Given the description of an element on the screen output the (x, y) to click on. 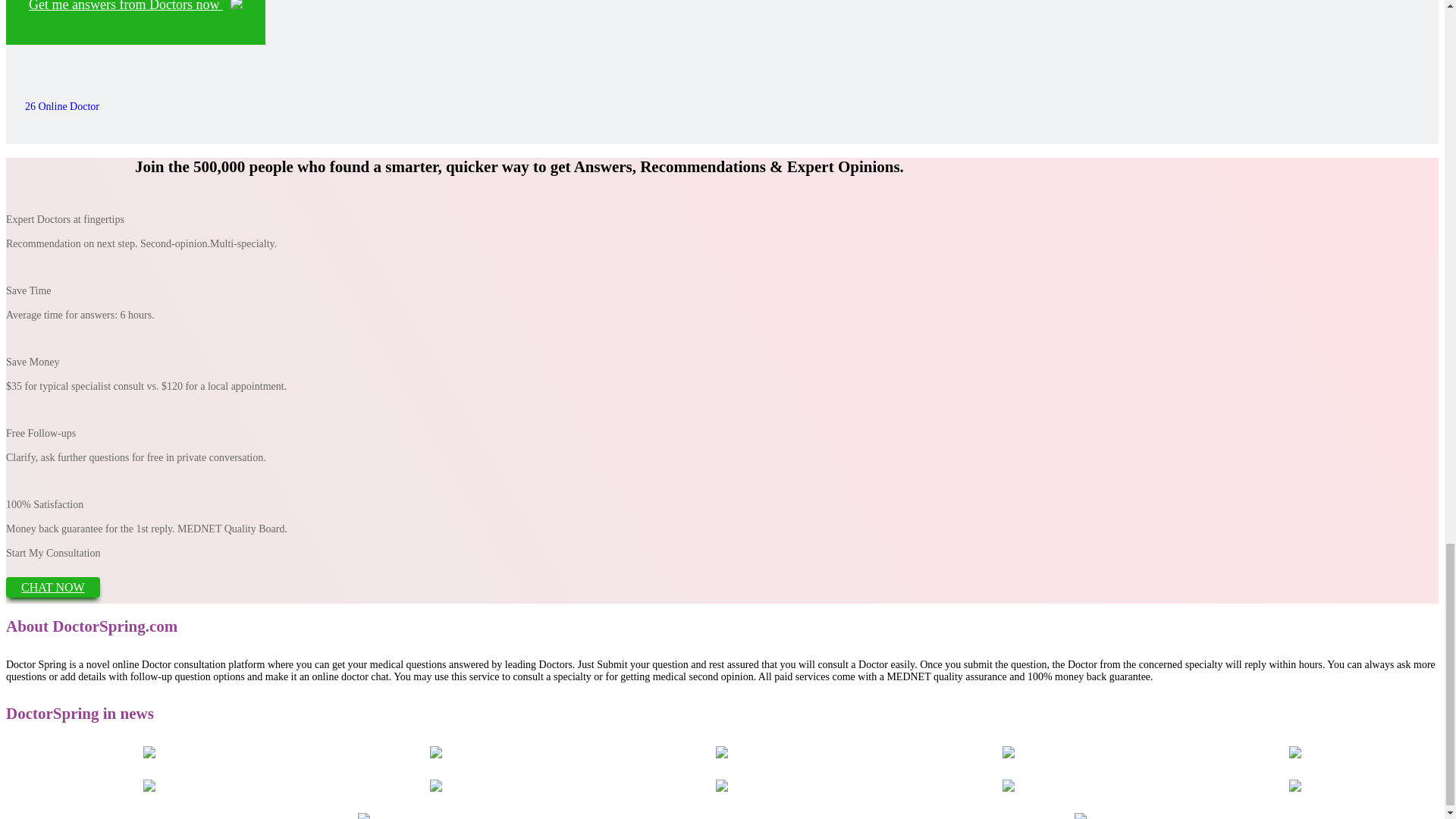
26 Online Doctor (58, 106)
CHAT NOW (52, 587)
Get me answers from Doctors now (134, 22)
Ask a Doctor now (134, 22)
